Given the description of an element on the screen output the (x, y) to click on. 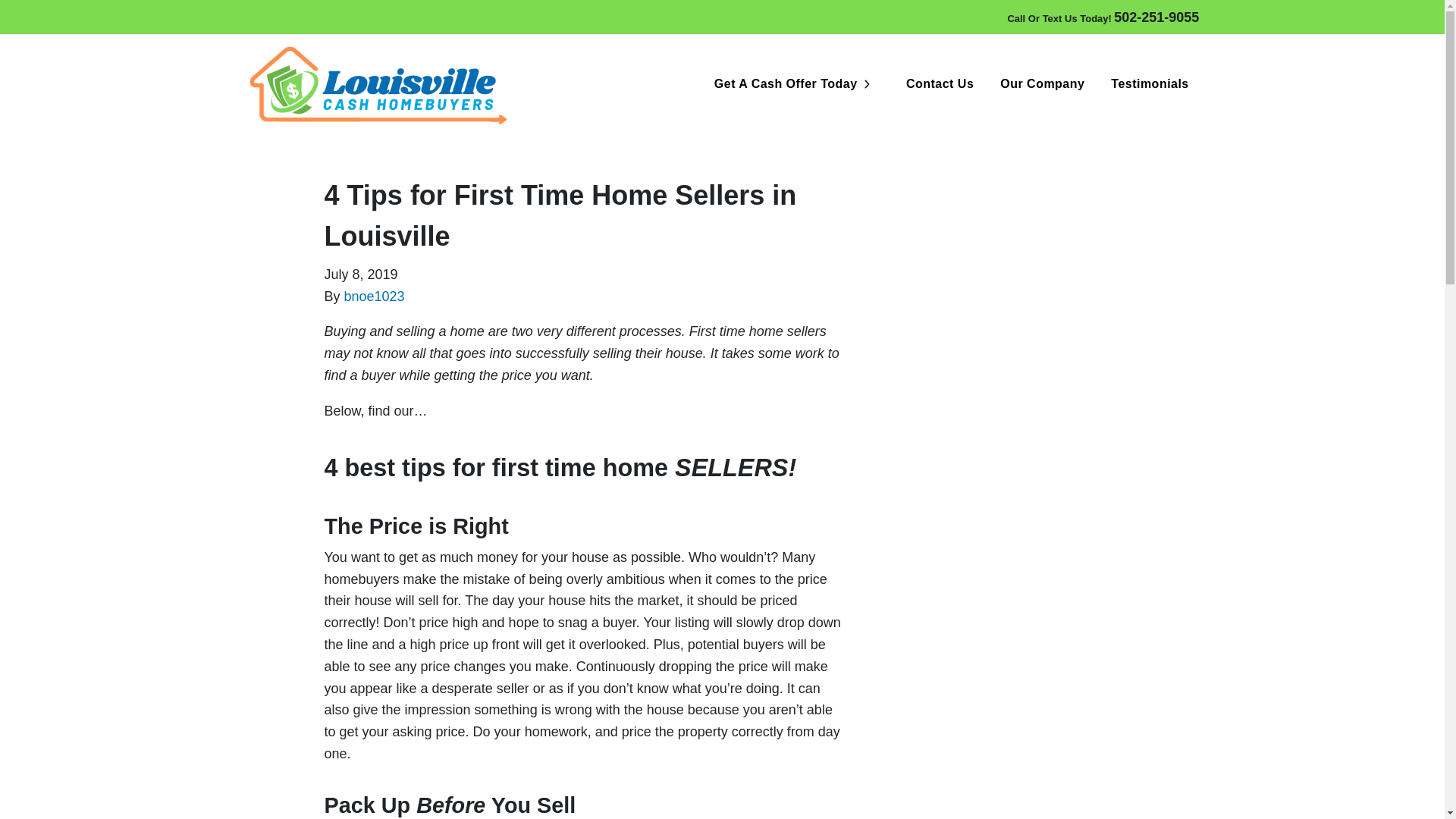
Our Company (1102, 17)
Testimonials (1042, 83)
bnoe1023 (1149, 83)
Contact Us (373, 296)
Get A Cash Offer Today (940, 83)
